Given the description of an element on the screen output the (x, y) to click on. 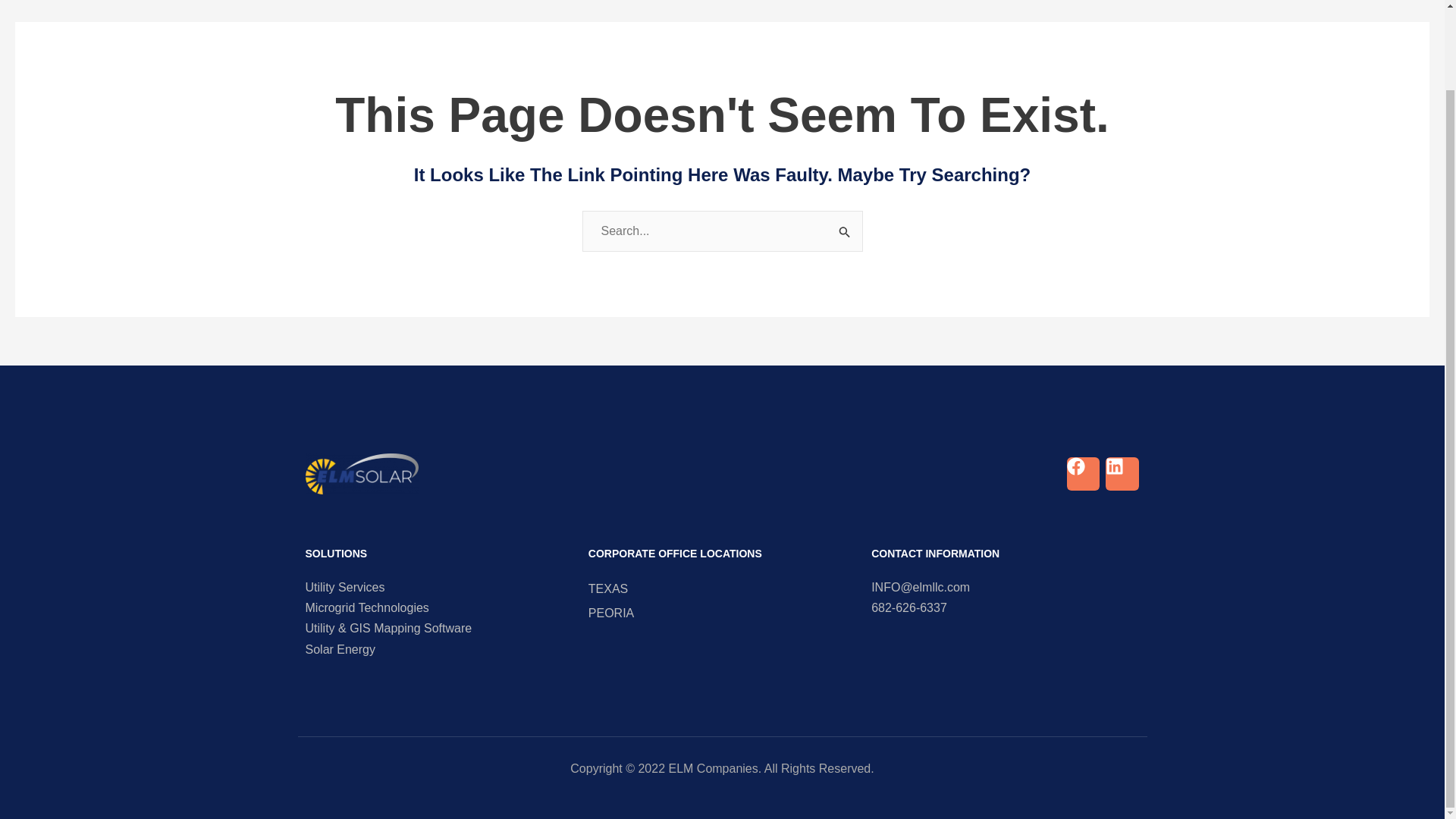
Search (844, 229)
682-626-6337 (1004, 607)
Solar Energy (438, 649)
Facebook (1083, 473)
Search (844, 229)
Microgrid Technologies (438, 607)
Search (844, 229)
Utility Services (438, 586)
Linkedin (1121, 473)
